Given the description of an element on the screen output the (x, y) to click on. 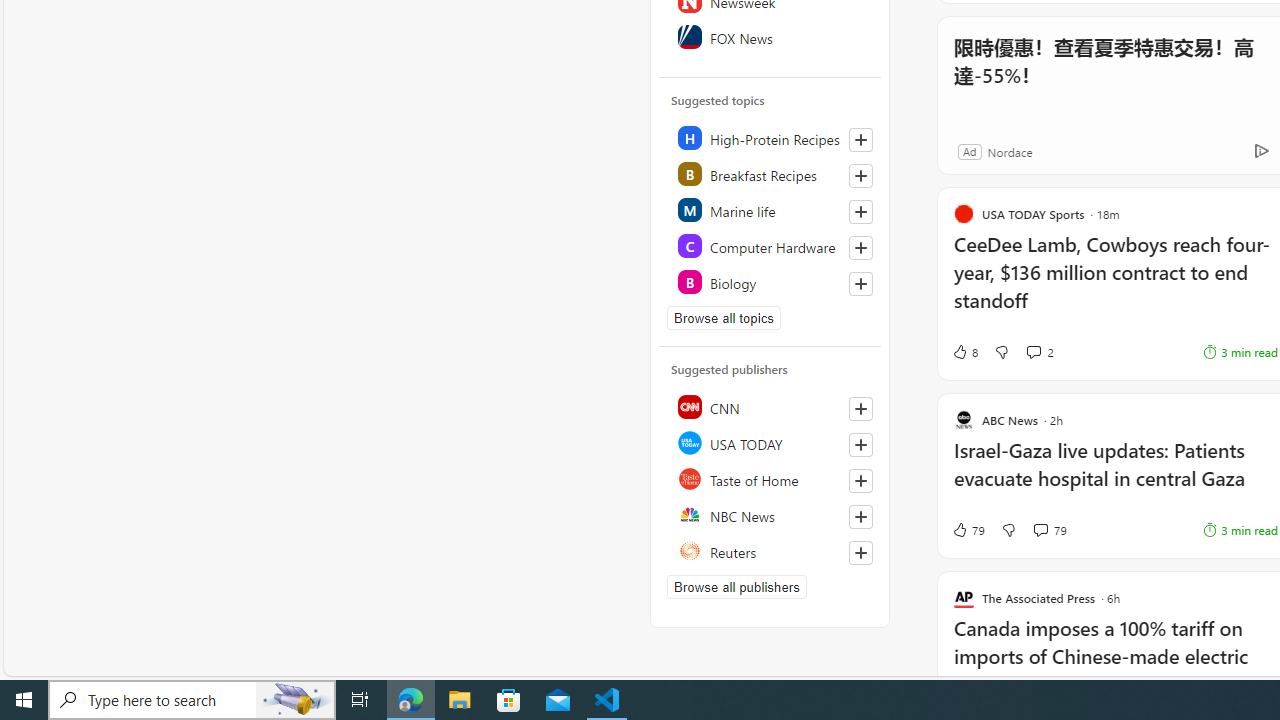
Ad Choice (1261, 151)
79 Like (968, 529)
View comments 79 Comment (1040, 529)
CNN (771, 406)
USA TODAY (771, 442)
Ad (969, 151)
View comments 2 Comment (1033, 352)
Follow this source (860, 552)
NBC News (771, 514)
Dislike (1008, 529)
Follow this source (860, 552)
